Given the description of an element on the screen output the (x, y) to click on. 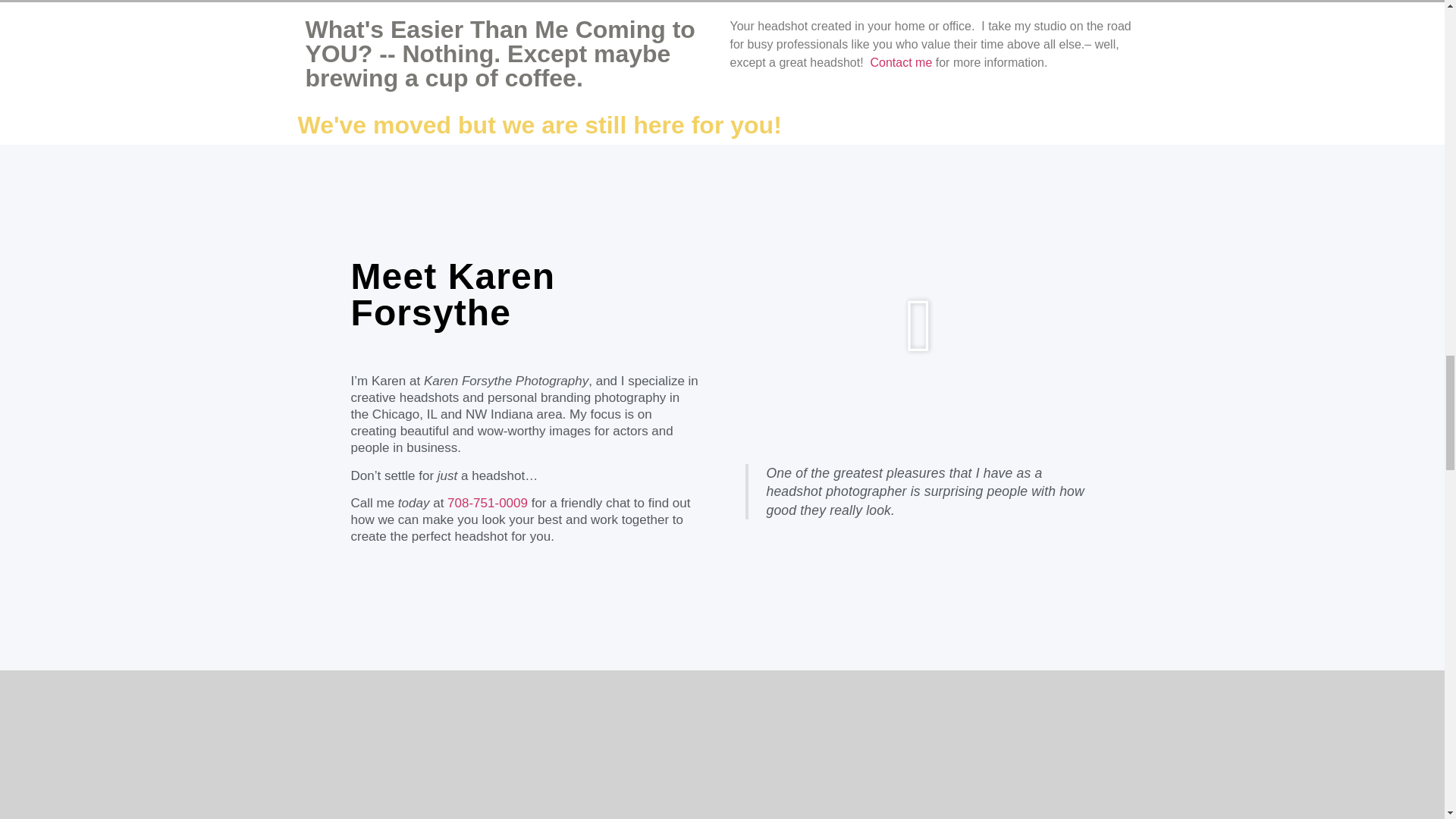
Contact me (901, 62)
karen (918, 326)
We've moved but we are still here for you! (538, 124)
708-751-0009 (486, 503)
